Given the description of an element on the screen output the (x, y) to click on. 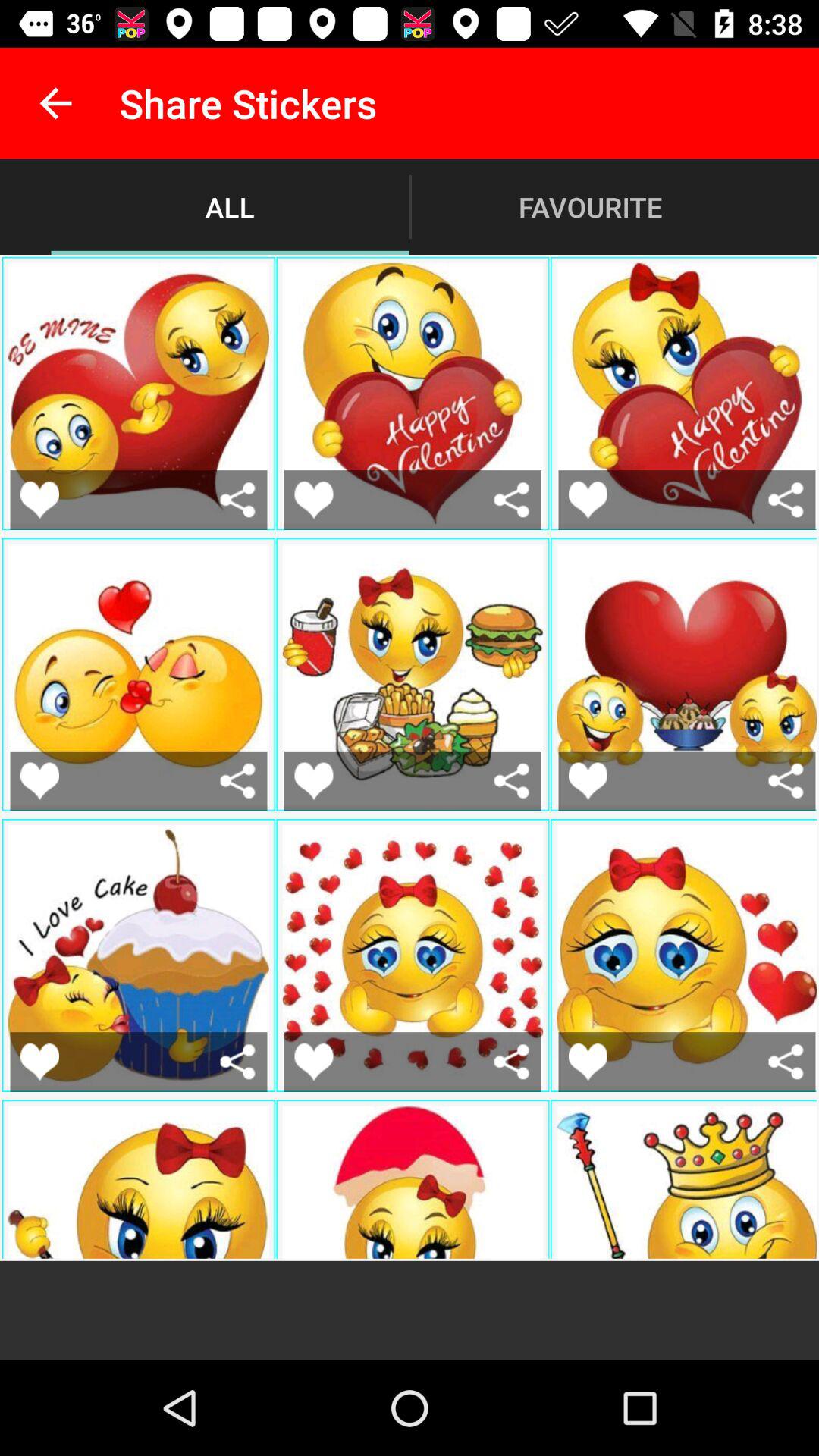
press to like (313, 780)
